Given the description of an element on the screen output the (x, y) to click on. 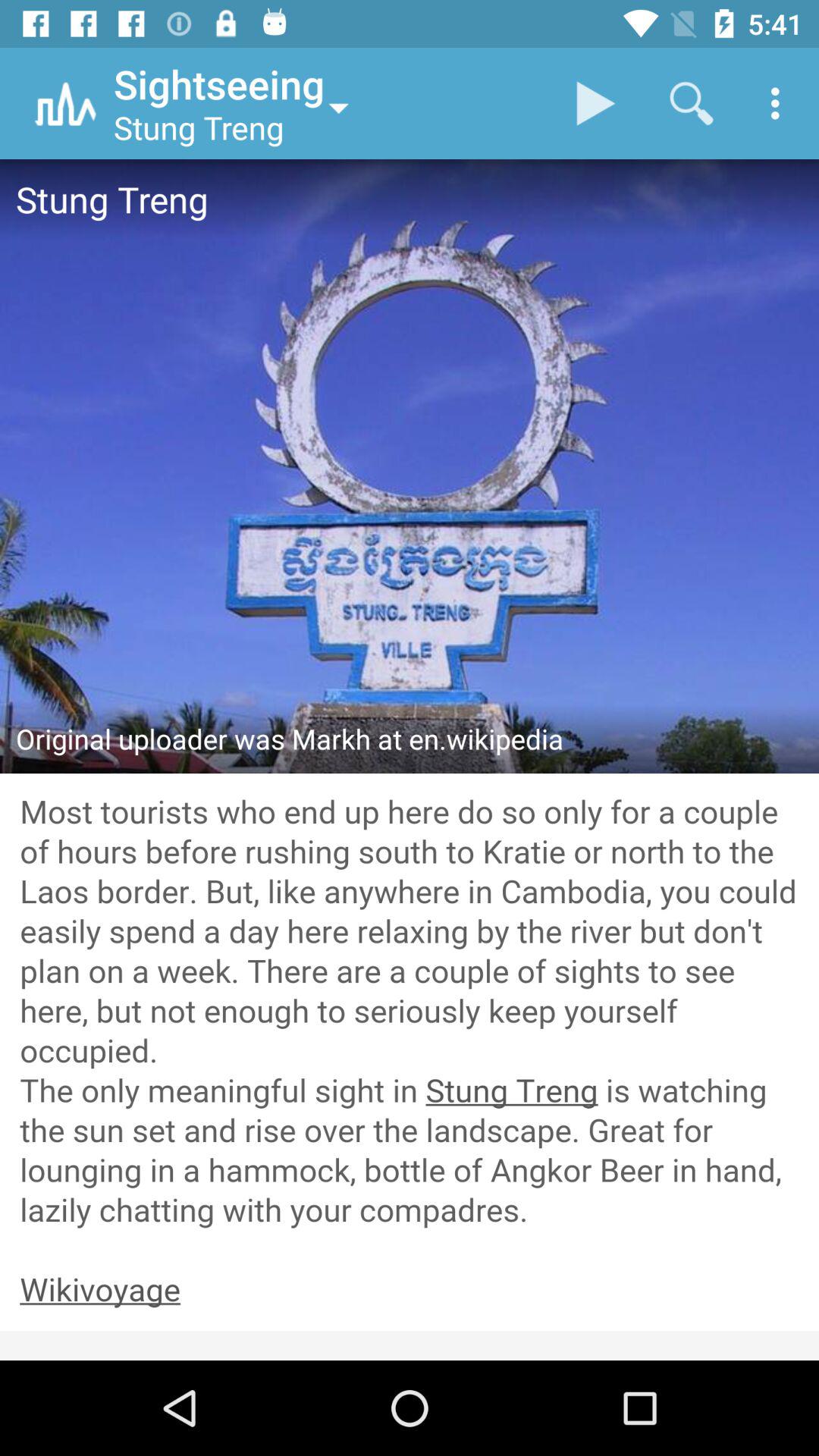
link to wikivoyage (409, 1290)
